Given the description of an element on the screen output the (x, y) to click on. 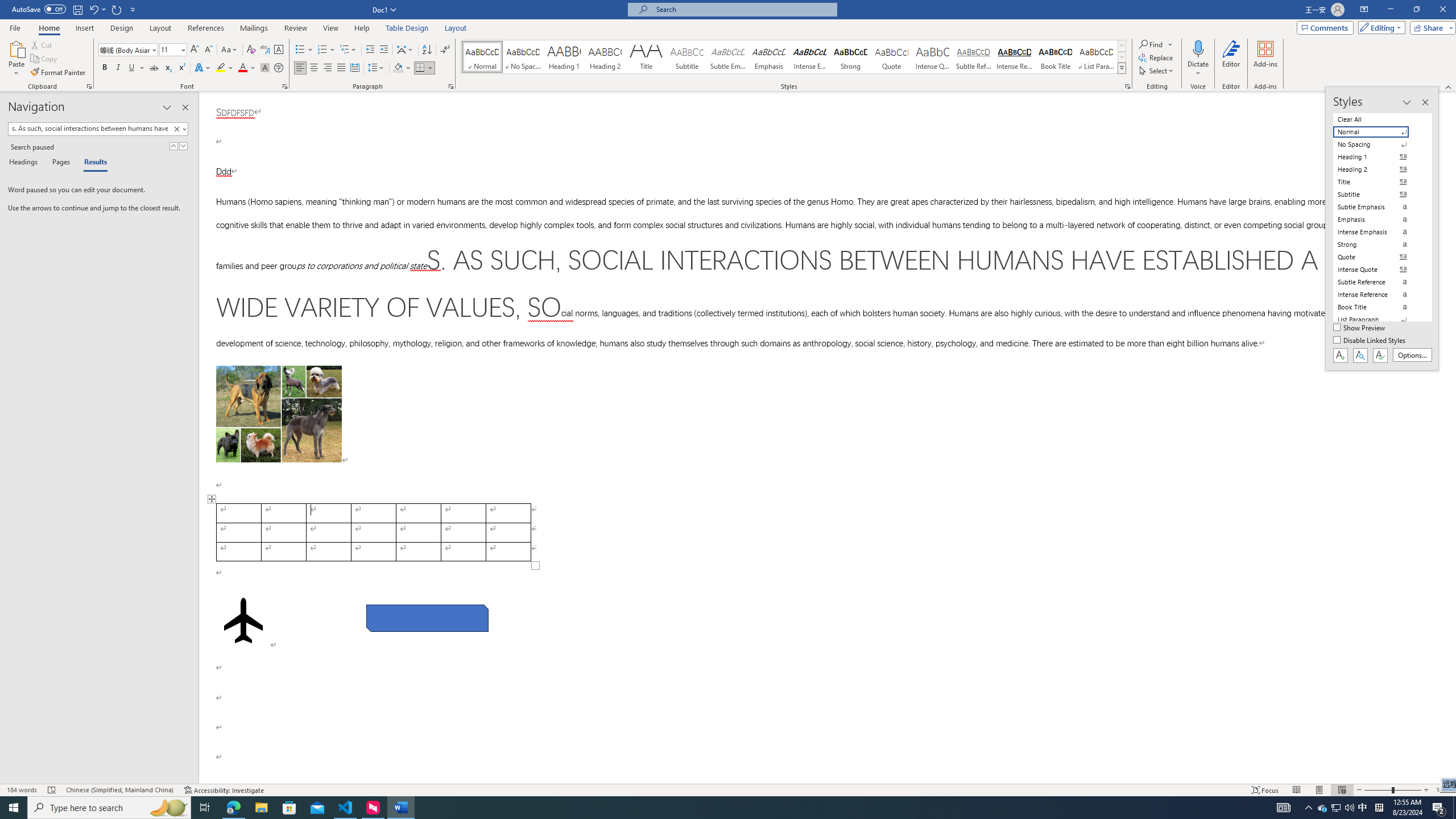
Office Clipboard... (88, 85)
